Given the description of an element on the screen output the (x, y) to click on. 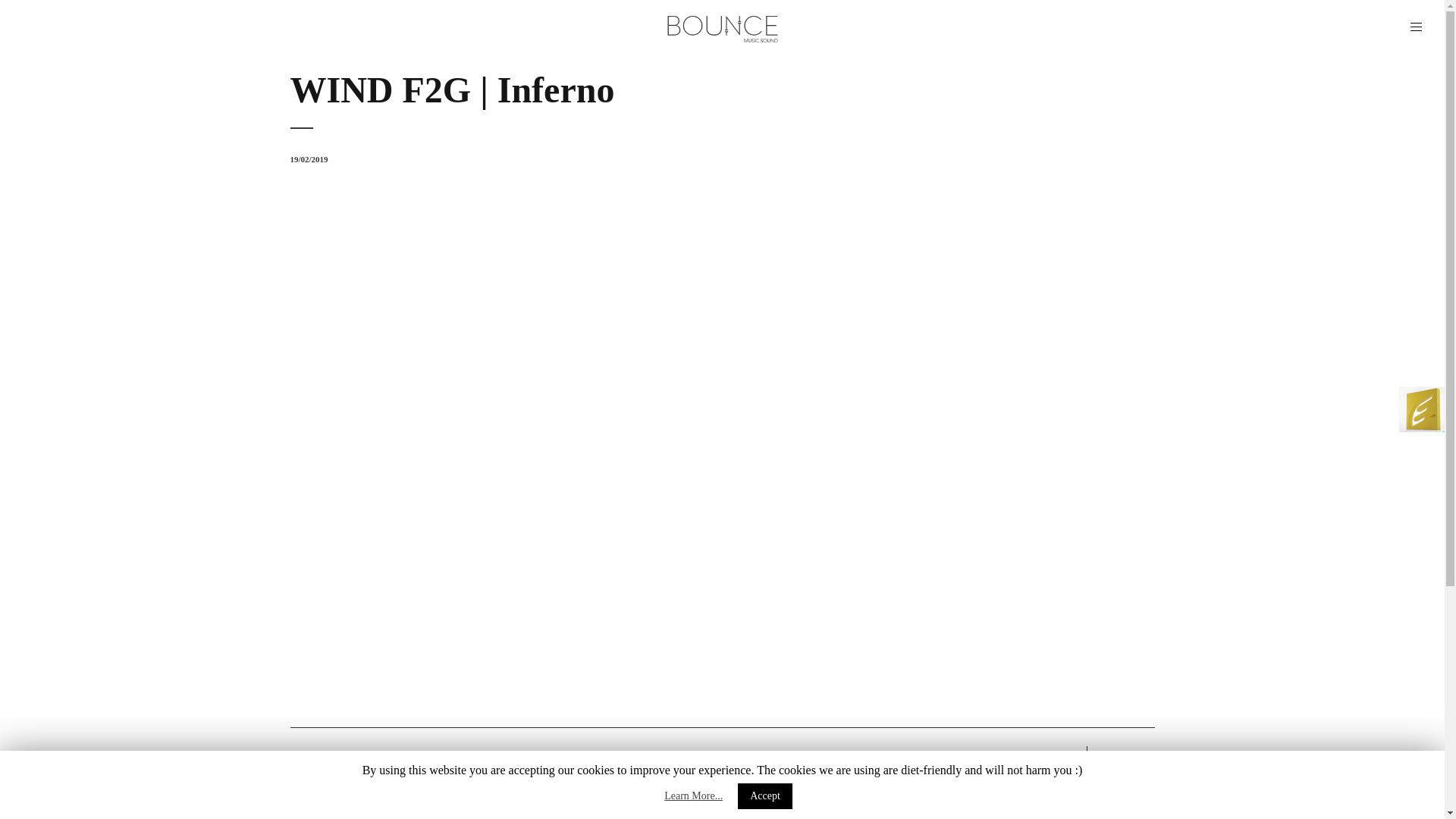
Learn More... Element type: text (693, 796)
next post Element type: text (1120, 755)
previous post Element type: text (1033, 755)
Accept Element type: text (764, 796)
WIND F2G_INFERNO Element type: hover (721, 431)
